Given the description of an element on the screen output the (x, y) to click on. 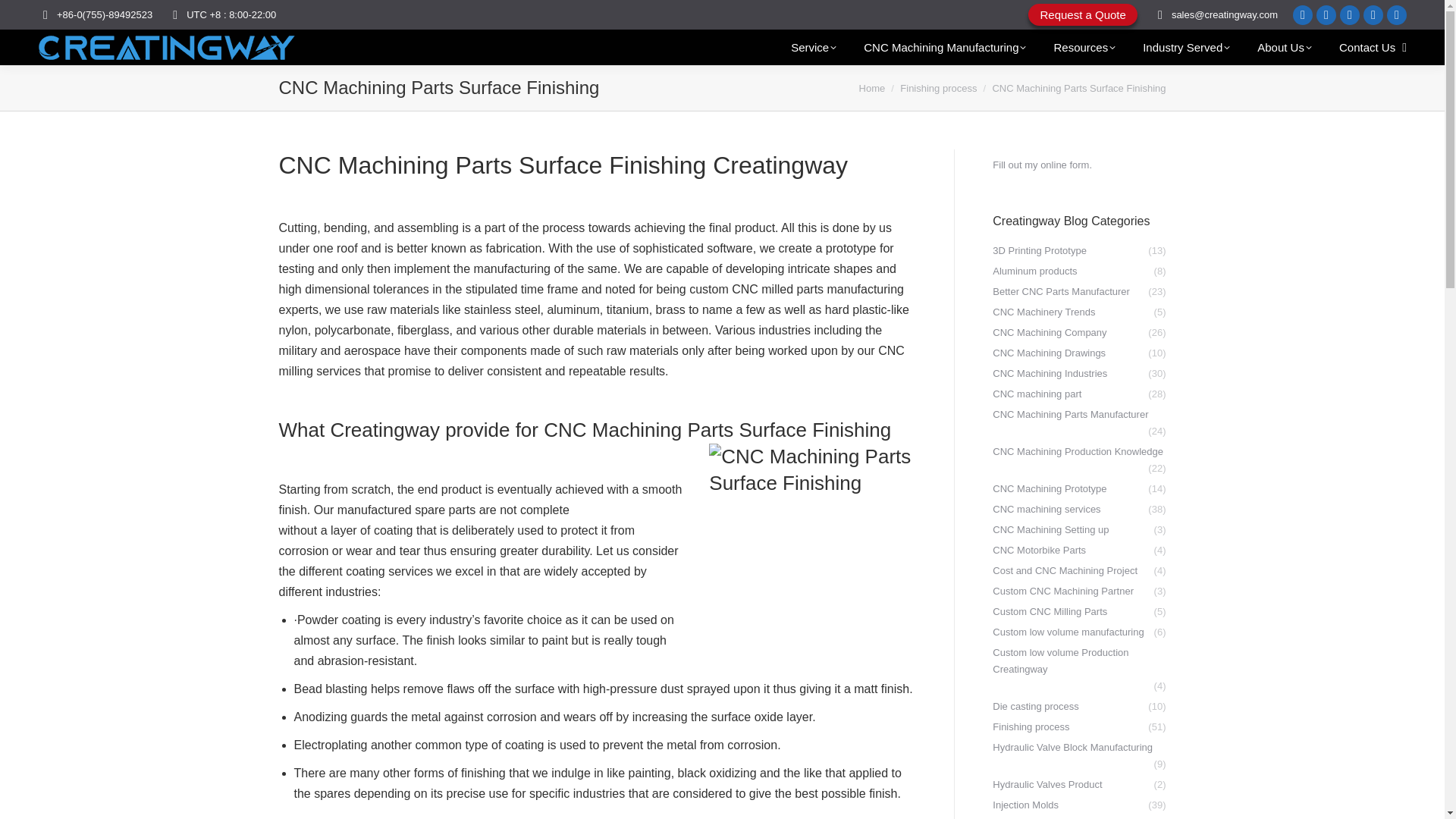
CNC Machining Manufacturing (944, 46)
Finishing process (937, 87)
Instagram page opens in new window (1372, 14)
Whatsapp page opens in new window (1396, 14)
Service (813, 46)
Linkedin page opens in new window (1302, 14)
Twitter page opens in new window (1349, 14)
About Us (1283, 46)
Instagram page opens in new window (1372, 14)
Twitter page opens in new window (1349, 14)
Industry Served (1186, 46)
Facebook page opens in new window (1326, 14)
Linkedin page opens in new window (1302, 14)
Whatsapp page opens in new window (1396, 14)
Request a Quote (1082, 14)
